Given the description of an element on the screen output the (x, y) to click on. 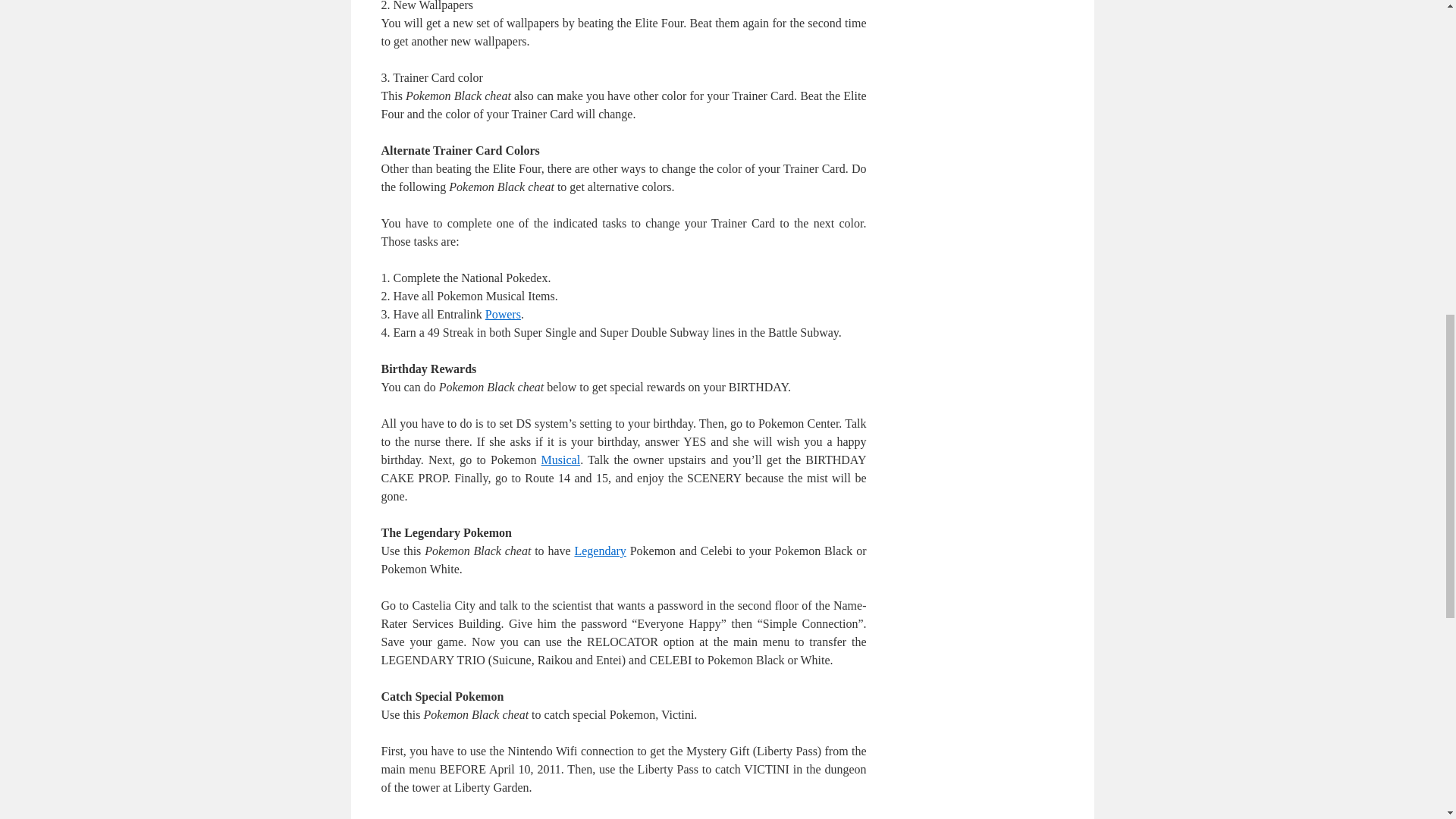
Musical (560, 459)
Powers (502, 314)
Legendary (599, 550)
